Given the description of an element on the screen output the (x, y) to click on. 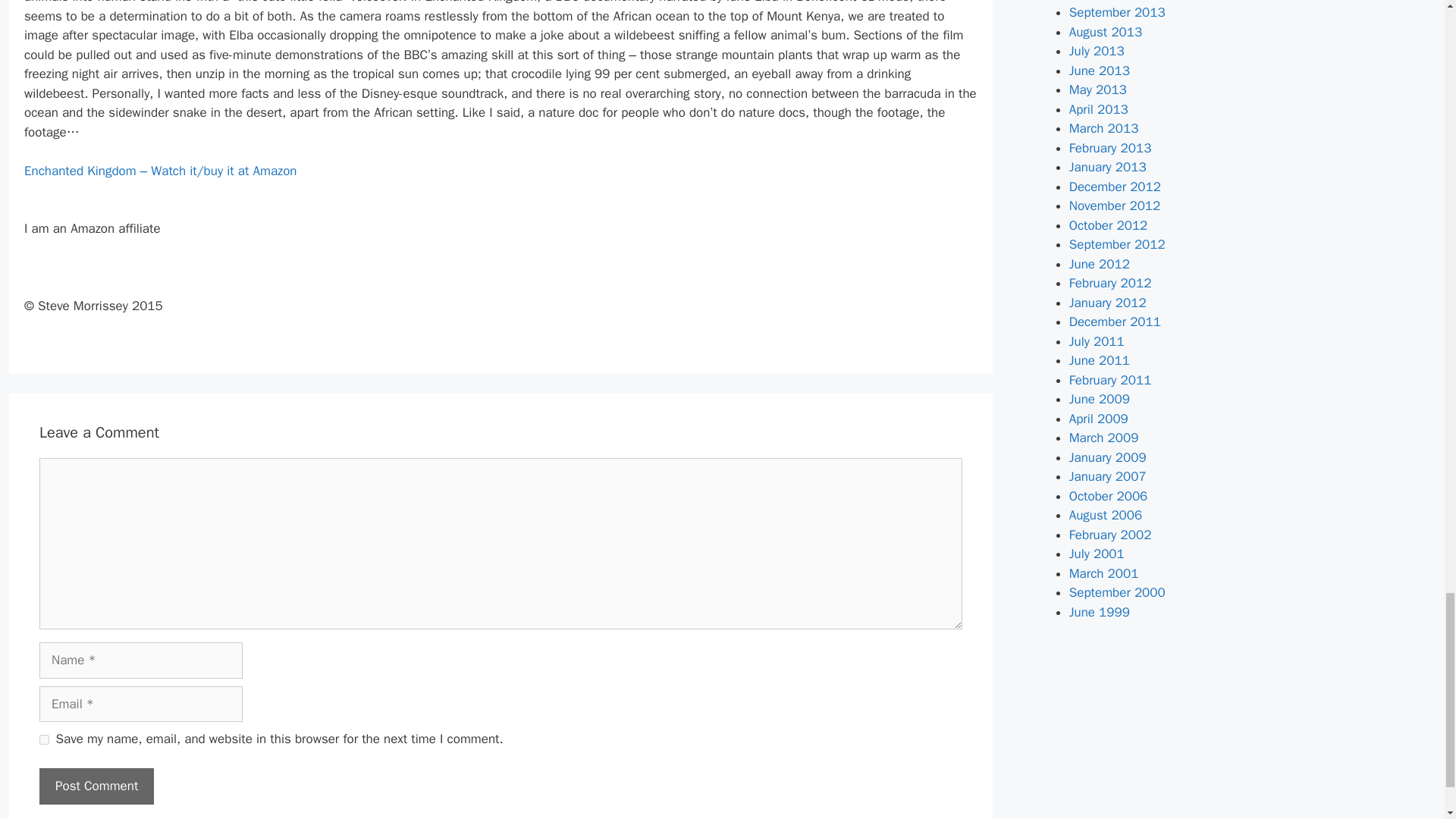
Post Comment (96, 786)
Post Comment (96, 786)
yes (44, 739)
